Given the description of an element on the screen output the (x, y) to click on. 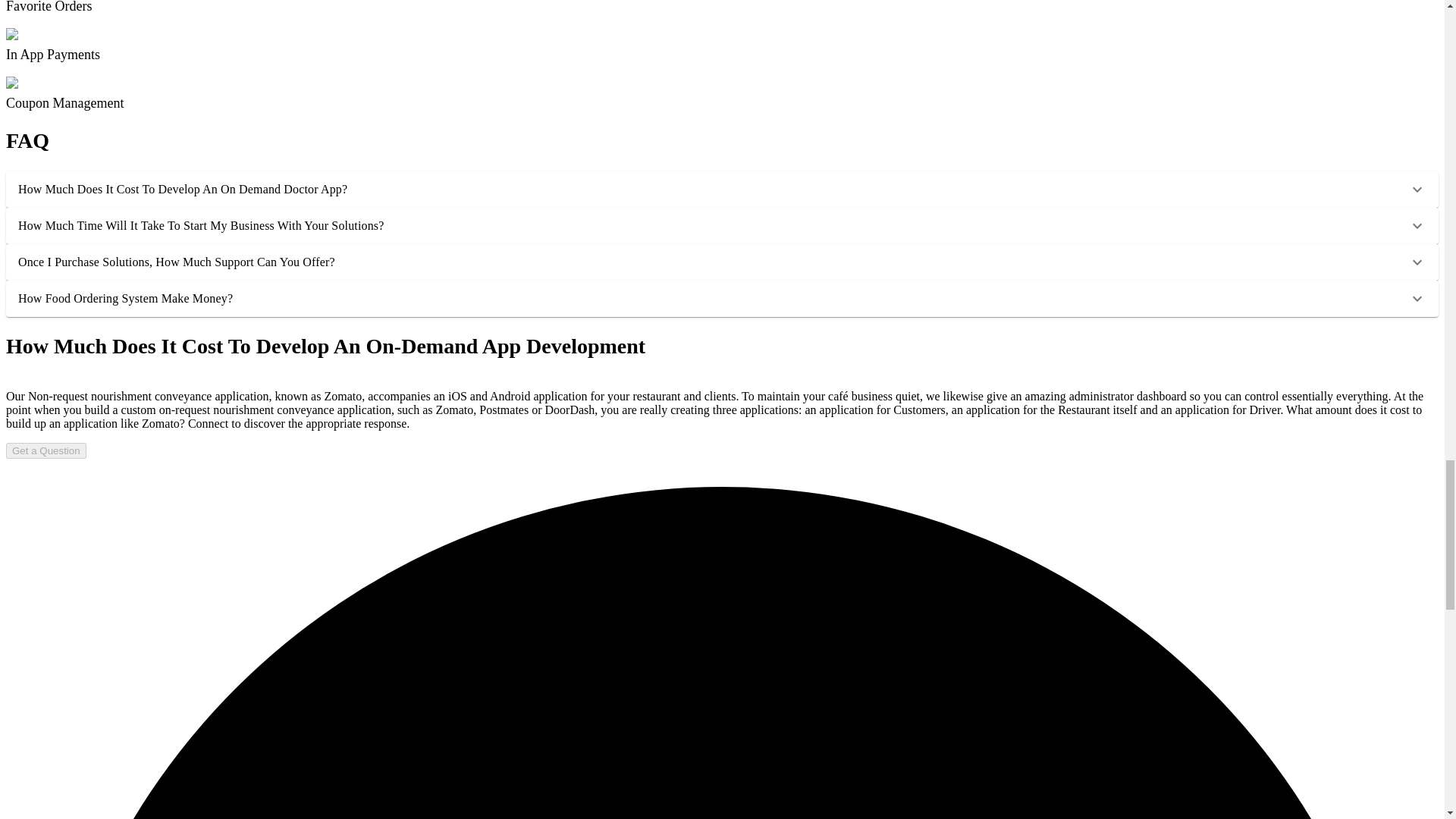
Get a Question (45, 450)
